Given the description of an element on the screen output the (x, y) to click on. 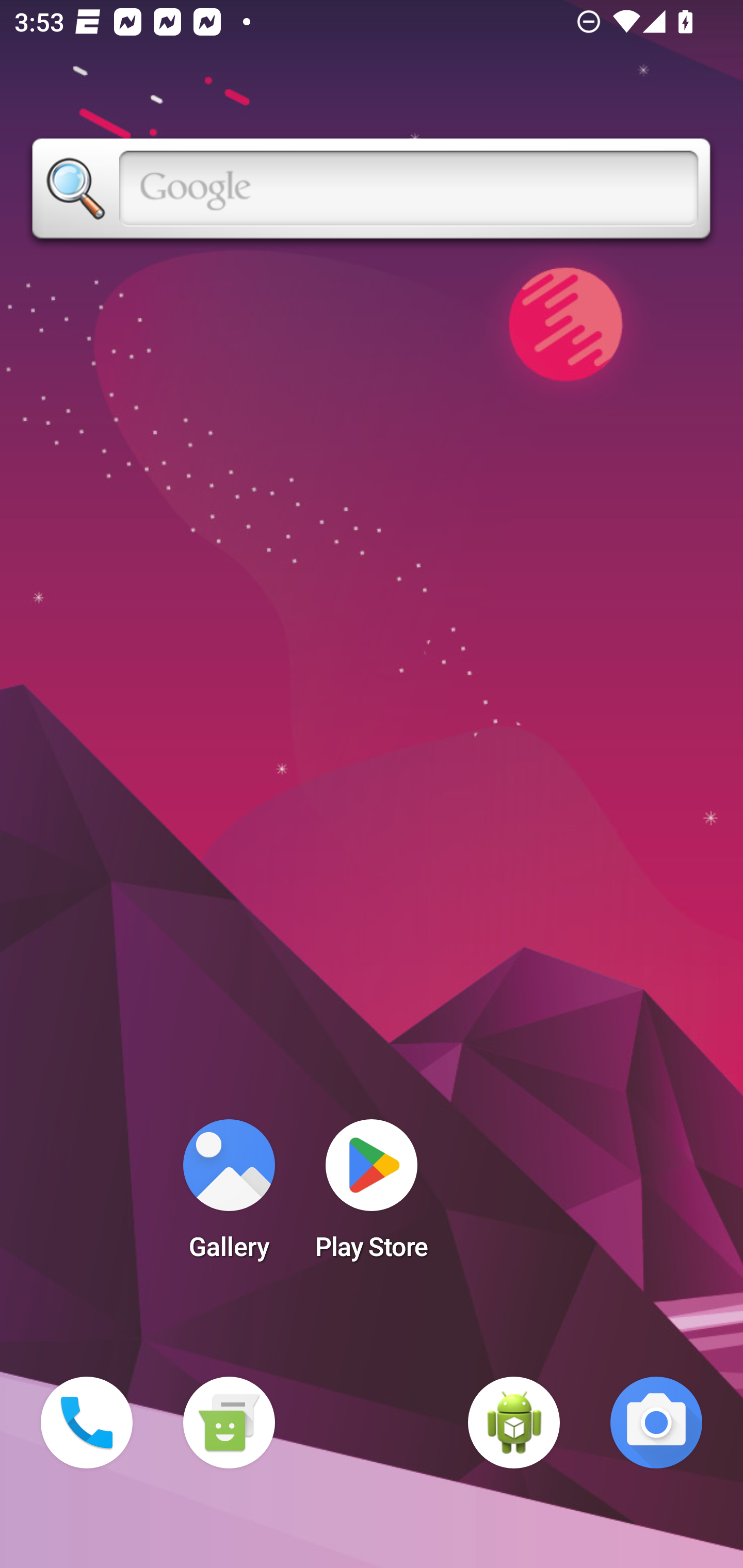
Gallery (228, 1195)
Play Store (371, 1195)
Phone (86, 1422)
Messaging (228, 1422)
WebView Browser Tester (513, 1422)
Camera (656, 1422)
